Given the description of an element on the screen output the (x, y) to click on. 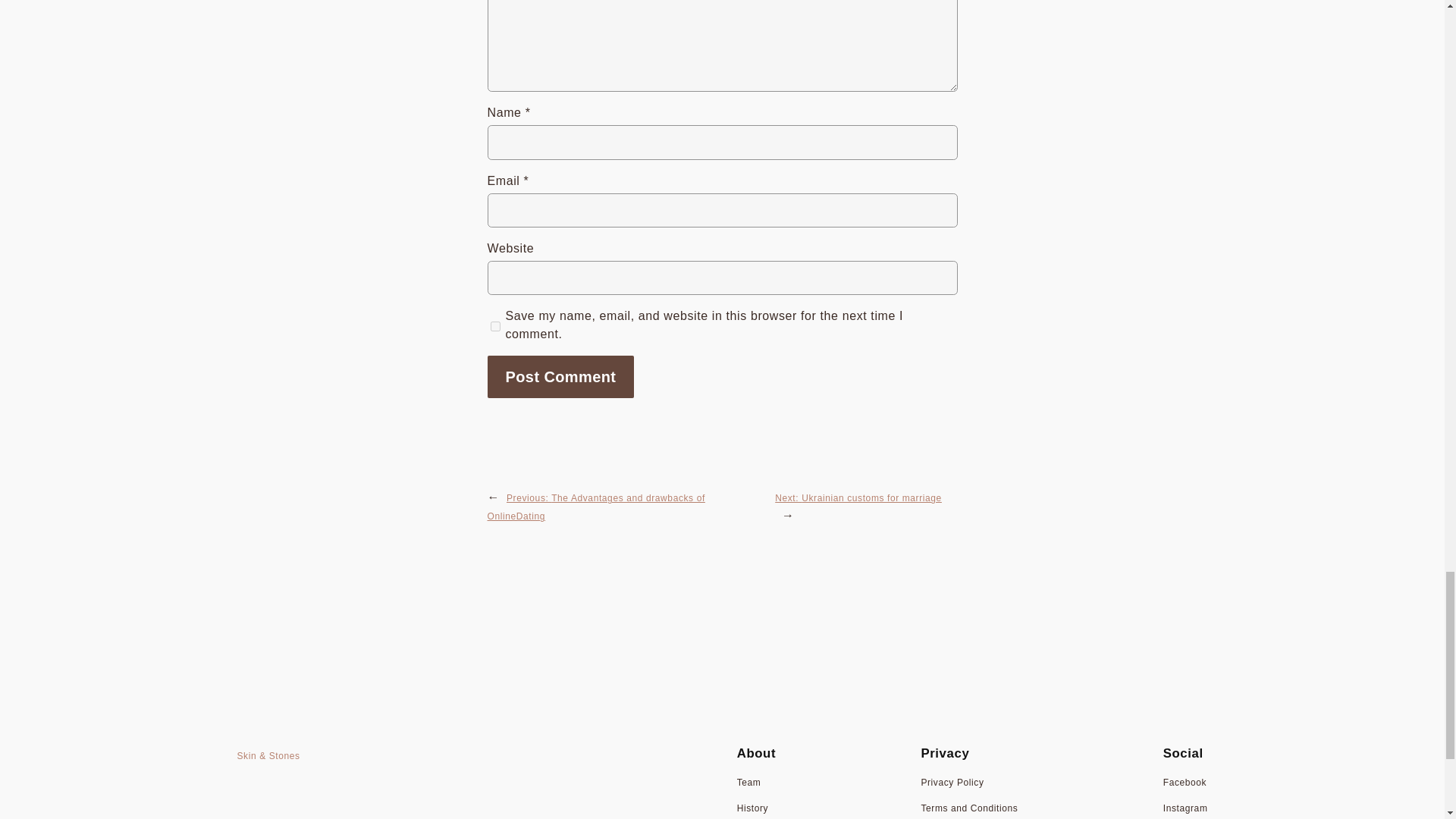
Instagram (1185, 807)
Facebook (1185, 782)
History (752, 807)
Post Comment (559, 376)
Post Comment (559, 376)
Next: Ukrainian customs for marriage (858, 498)
Terms and Conditions (968, 807)
Team (748, 782)
Previous: The Advantages and drawbacks of OnlineDating (595, 507)
Privacy Policy (952, 782)
